Given the description of an element on the screen output the (x, y) to click on. 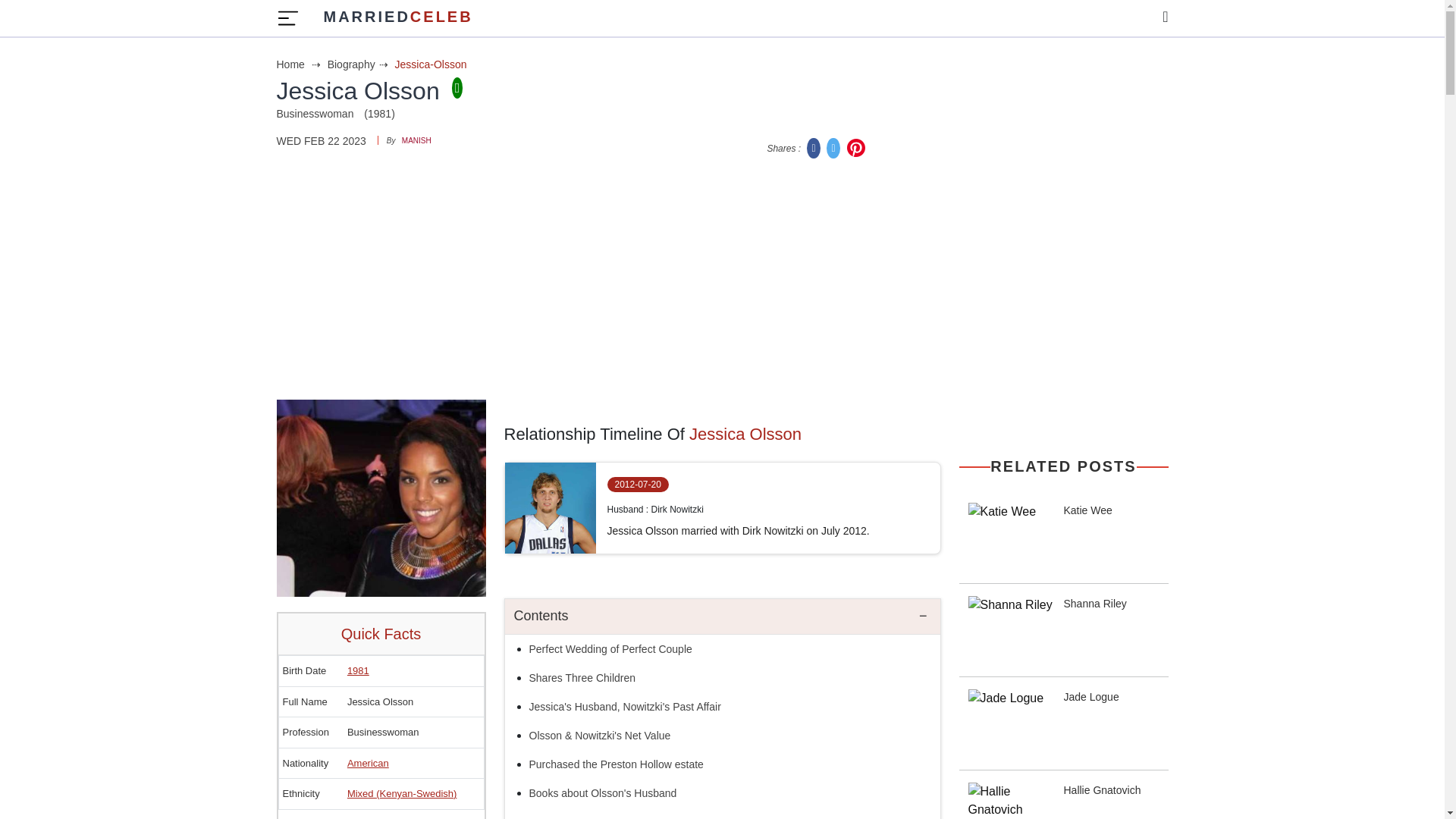
Biography (359, 64)
1981 (358, 670)
Books about Olsson's Husband (603, 793)
Jessica's Husband, Nowitzki's Past Affair  (626, 706)
Shares Three Children (582, 677)
Facebook (814, 147)
Home (299, 64)
Contents (722, 616)
Twitter (835, 147)
